Given the description of an element on the screen output the (x, y) to click on. 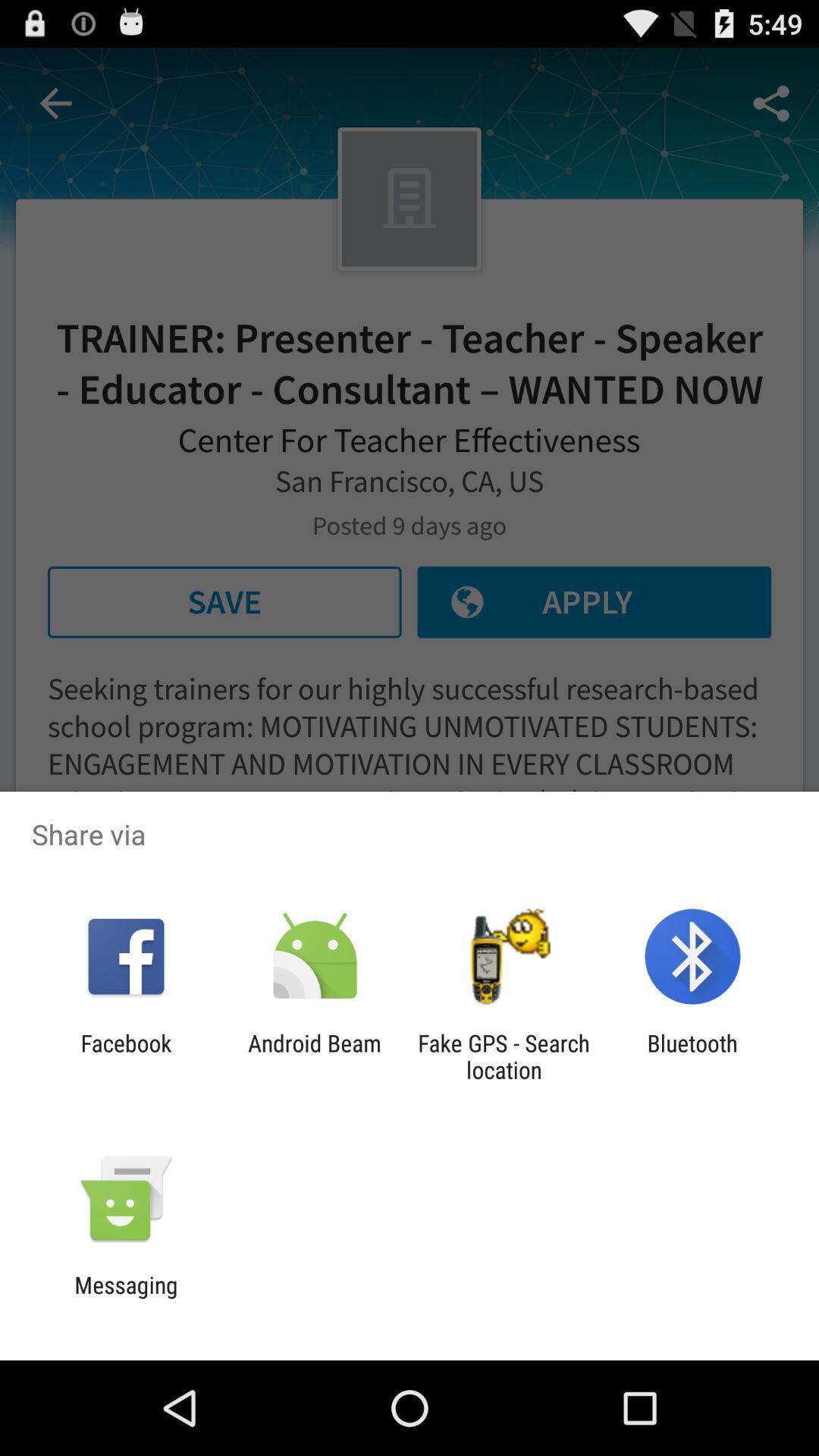
click the icon next to fake gps search app (692, 1056)
